Given the description of an element on the screen output the (x, y) to click on. 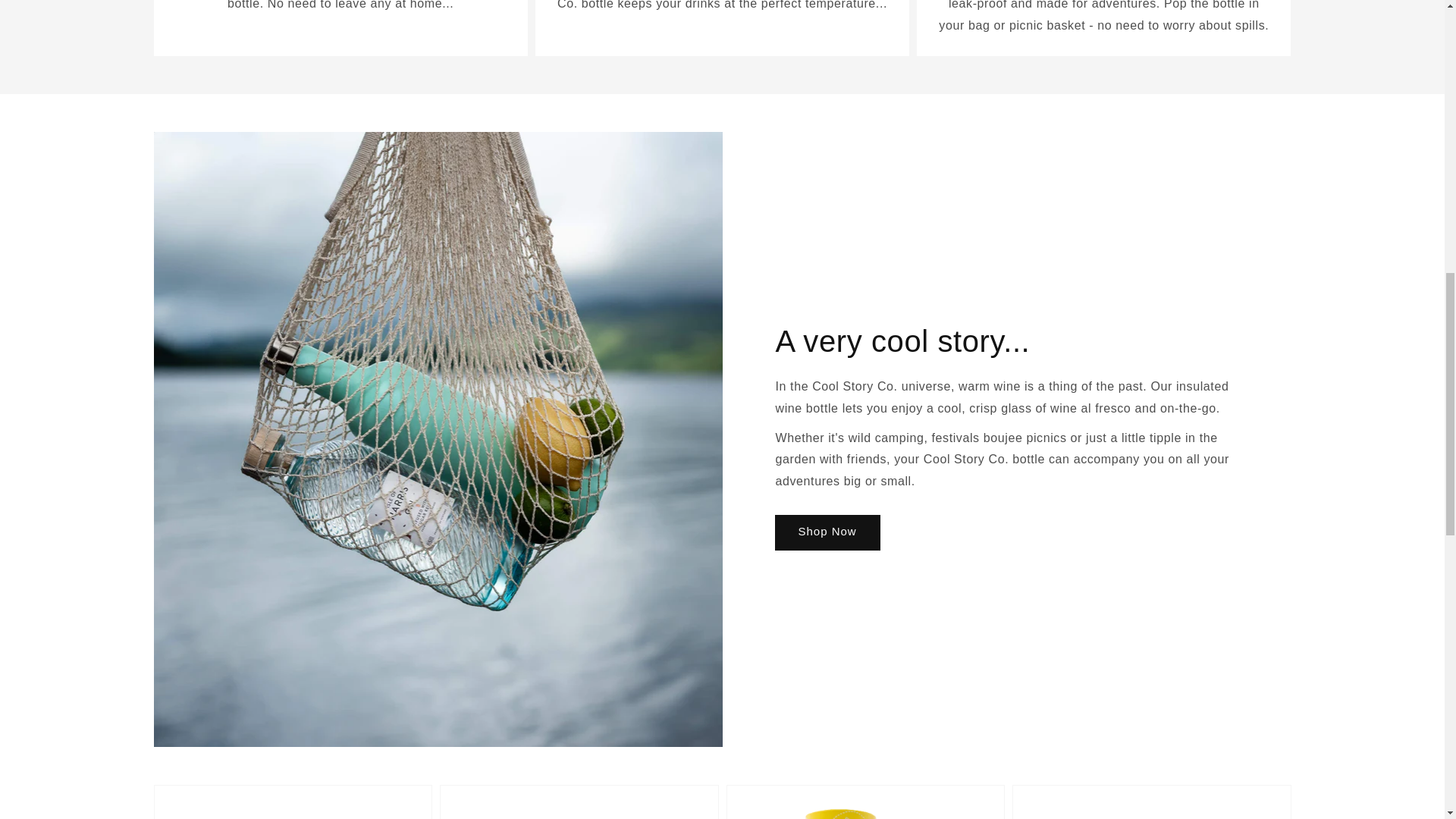
Shop Now (826, 532)
